Given the description of an element on the screen output the (x, y) to click on. 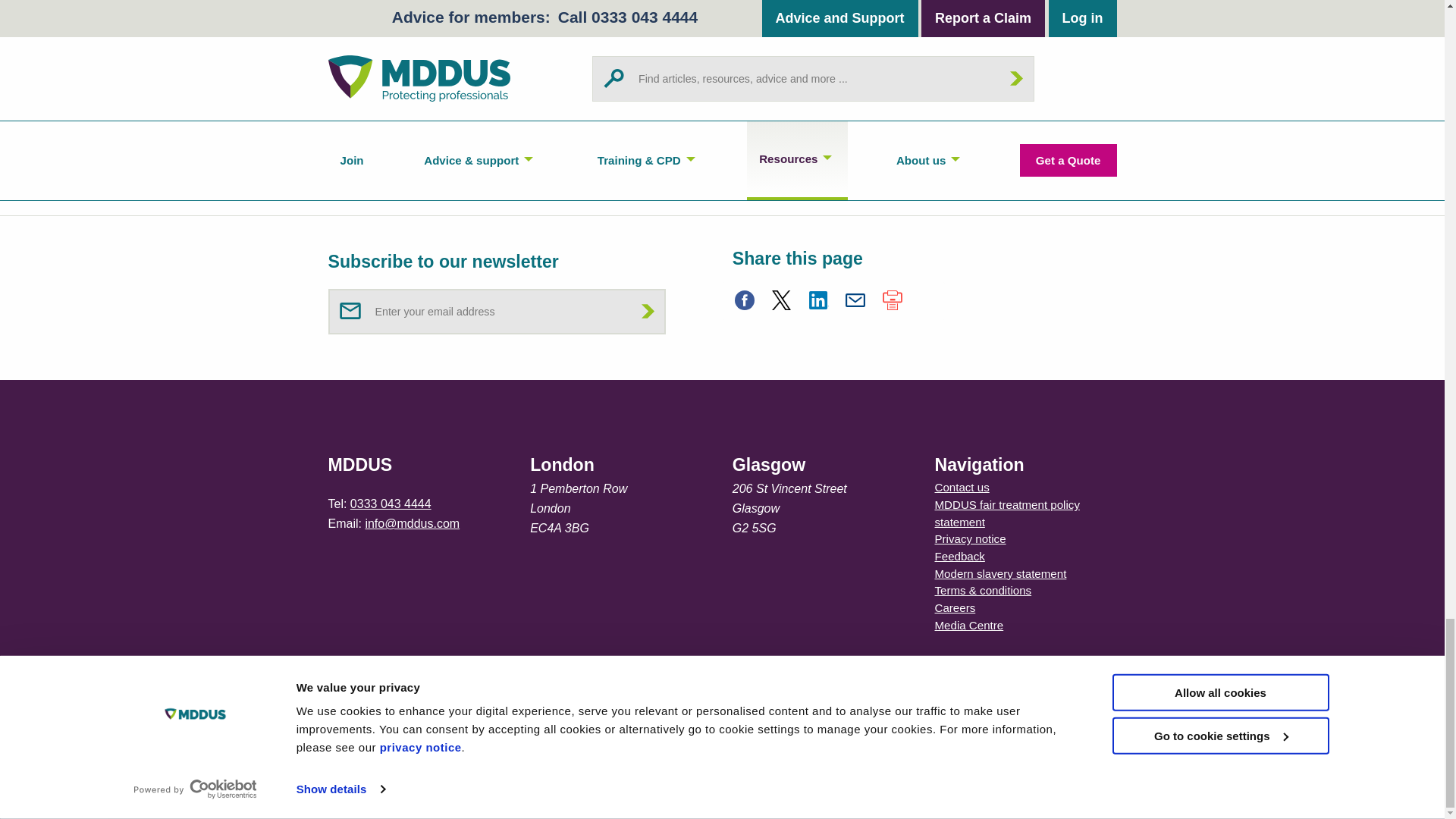
Submit (647, 310)
